Given the description of an element on the screen output the (x, y) to click on. 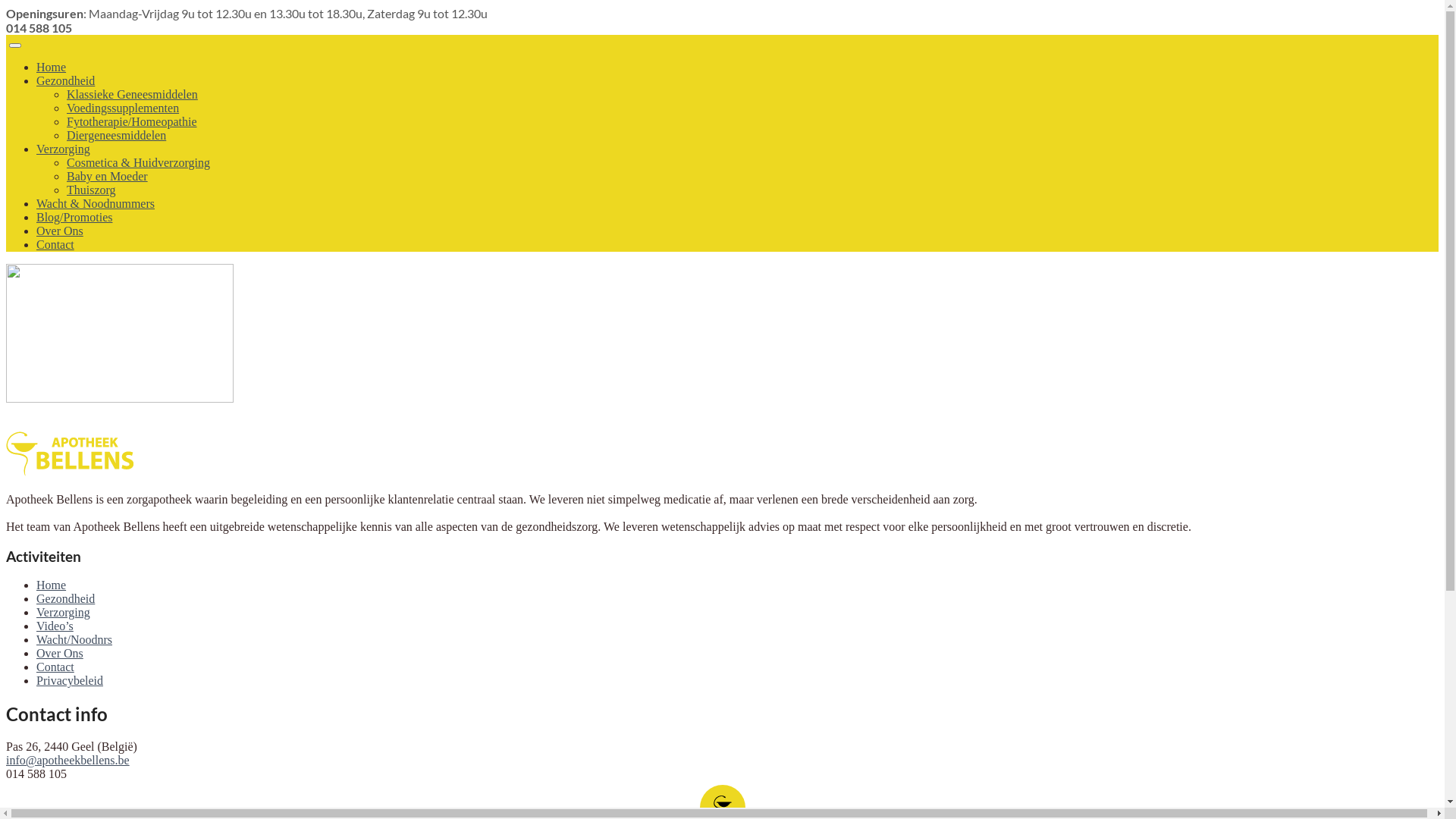
Fytotherapie/Homeopathie Element type: text (131, 121)
Cosmetica & Huidverzorging Element type: text (138, 162)
Contact Element type: text (55, 666)
Home Element type: text (50, 66)
Voedingssupplementen Element type: text (122, 107)
Home Element type: text (50, 584)
Wacht & Noodnummers Element type: text (95, 203)
Privacybeleid Element type: text (69, 680)
Blog/Promoties Element type: text (74, 216)
Over Ons Element type: text (59, 652)
Verzorging Element type: text (63, 611)
info@apotheekbellens.be Element type: text (67, 759)
Gezondheid Element type: text (65, 80)
Thuiszorg Element type: text (91, 189)
Contact Element type: text (55, 244)
Over Ons Element type: text (59, 230)
Gezondheid Element type: text (65, 598)
Diergeneesmiddelen Element type: text (116, 134)
Wacht/Noodnrs Element type: text (74, 639)
Baby en Moeder Element type: text (106, 175)
Klassieke Geneesmiddelen Element type: text (131, 93)
Verzorging Element type: text (63, 148)
